Given the description of an element on the screen output the (x, y) to click on. 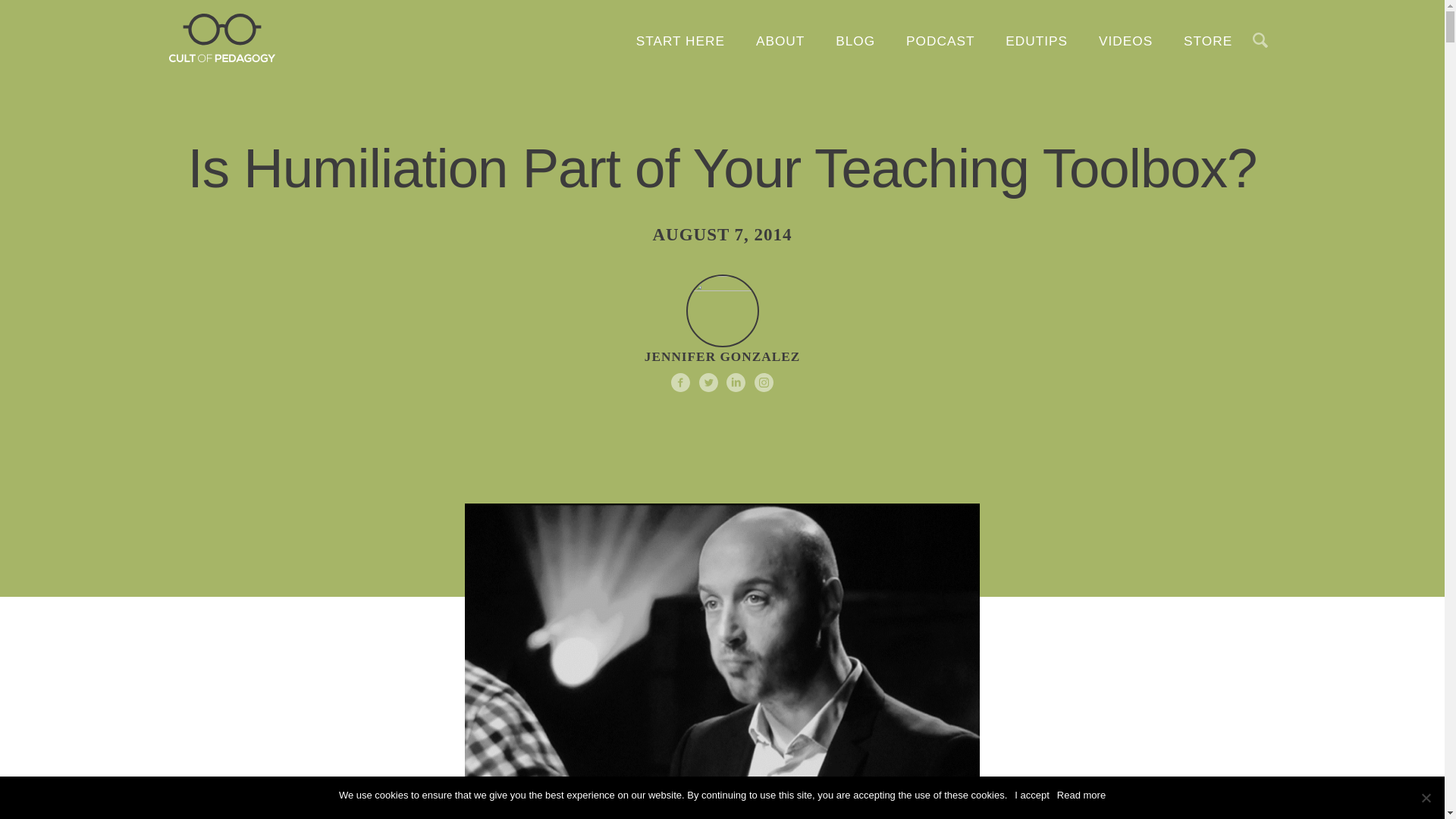
START HERE (680, 40)
BLOG (855, 40)
STORE (1208, 40)
EDUTIPS (1036, 40)
ABOUT (780, 40)
search (844, 272)
VIDEOS (1126, 40)
PODCAST (940, 40)
No (1425, 797)
JENNIFER GONZALEZ (722, 332)
